Given the description of an element on the screen output the (x, y) to click on. 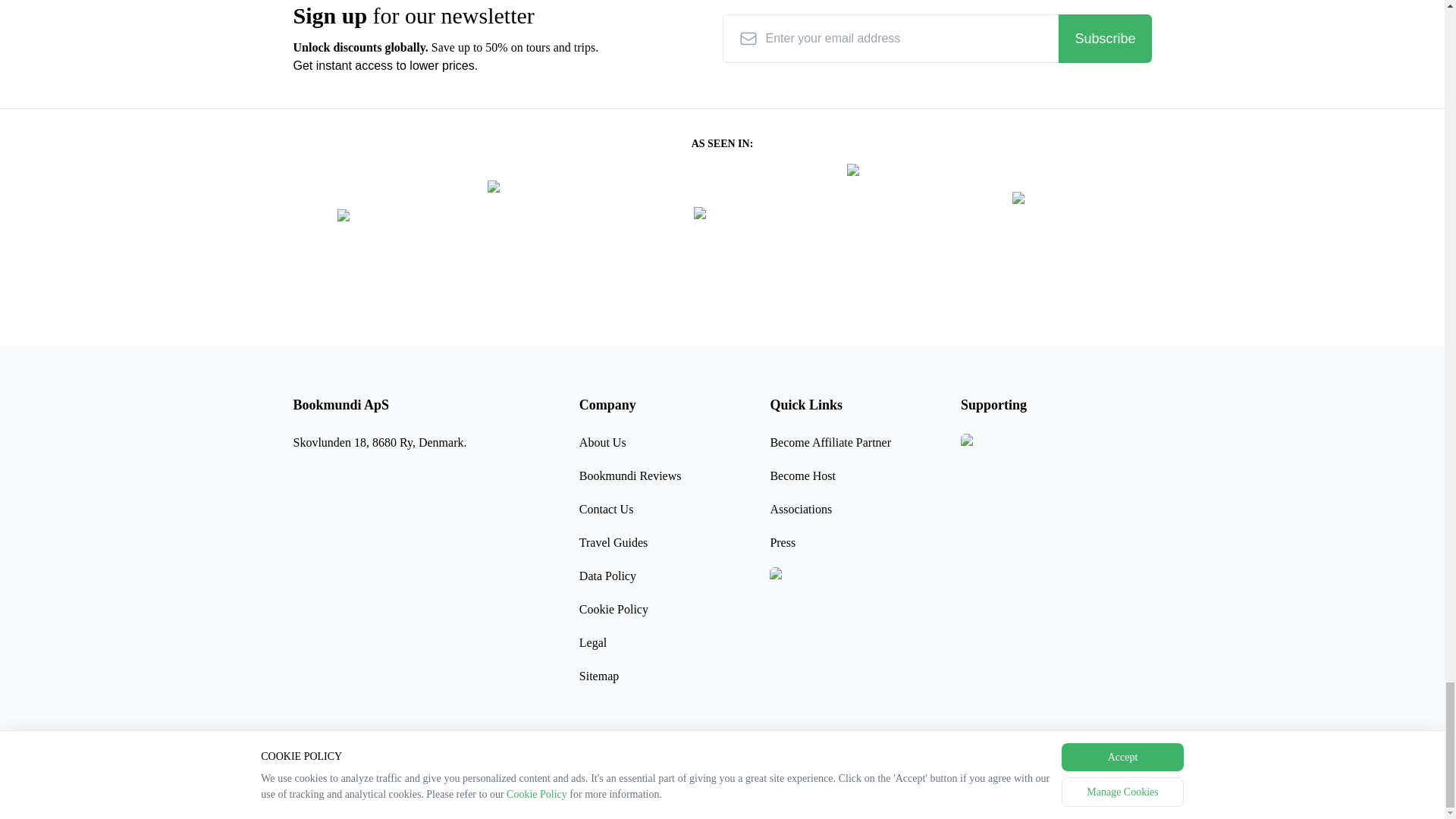
USA (456, 794)
Japan (580, 794)
Denmark (339, 794)
